Given the description of an element on the screen output the (x, y) to click on. 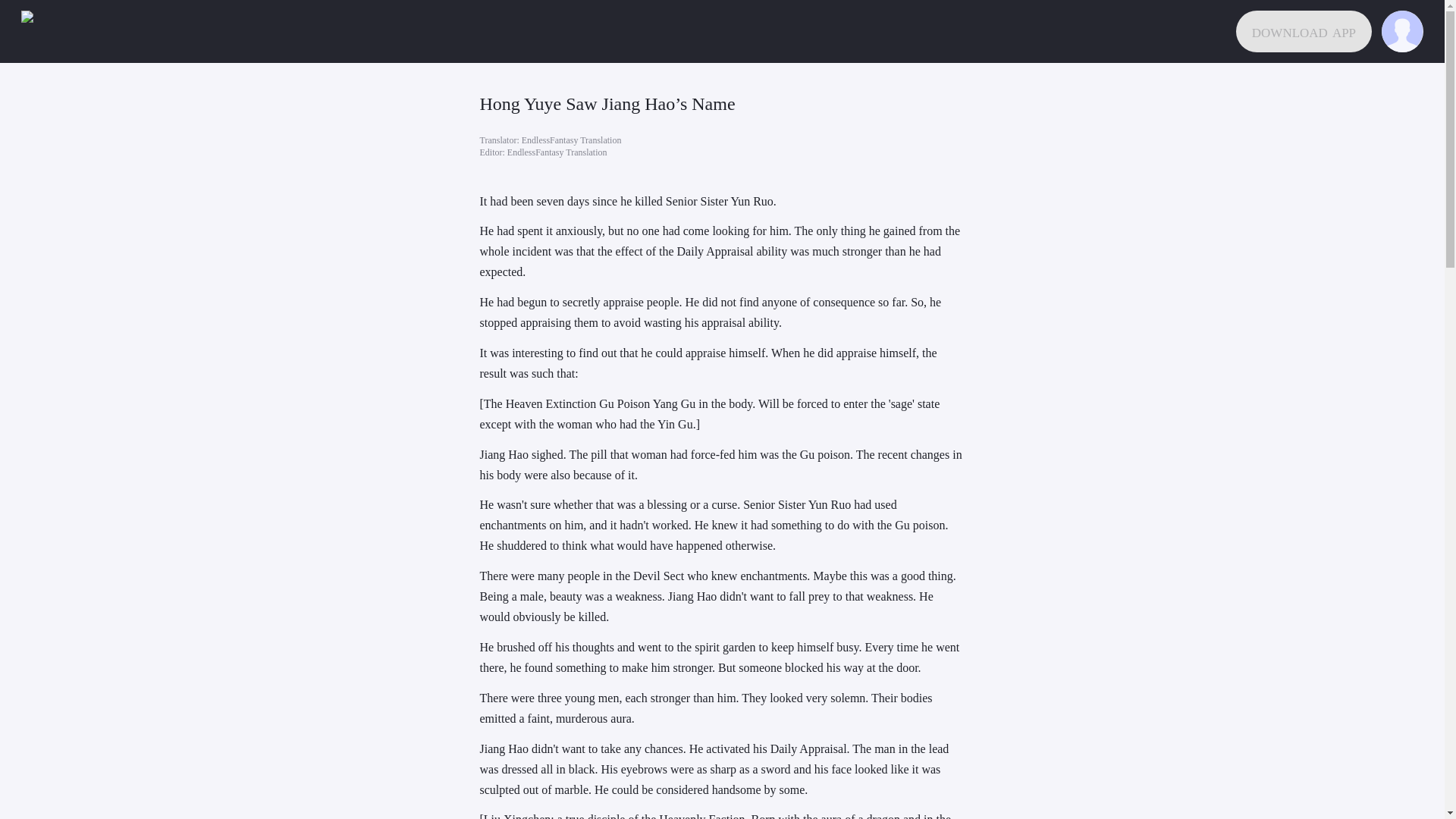
EndlessFantasy Translation  (571, 140)
EndlessFantasy Translation  (556, 152)
Webnovel (41, 31)
download app (1303, 31)
EndlessFantasy Translation (556, 152)
EndlessFantasy Translation (571, 140)
